Given the description of an element on the screen output the (x, y) to click on. 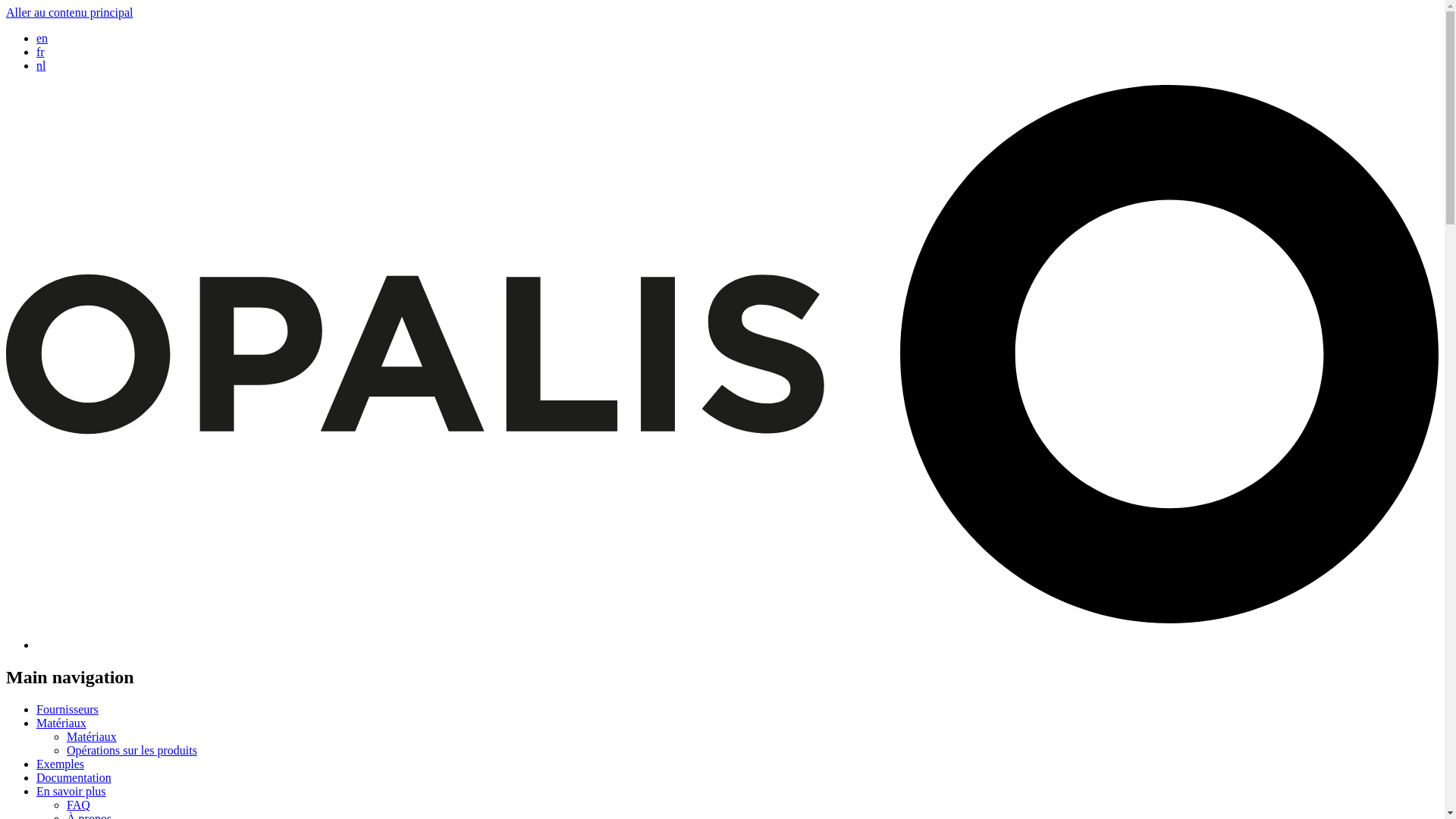
FAQ (78, 804)
Fournisseurs (67, 708)
Documentation (74, 777)
Aller au contenu principal (69, 11)
En savoir plus (71, 790)
Exemples (60, 763)
